Given the description of an element on the screen output the (x, y) to click on. 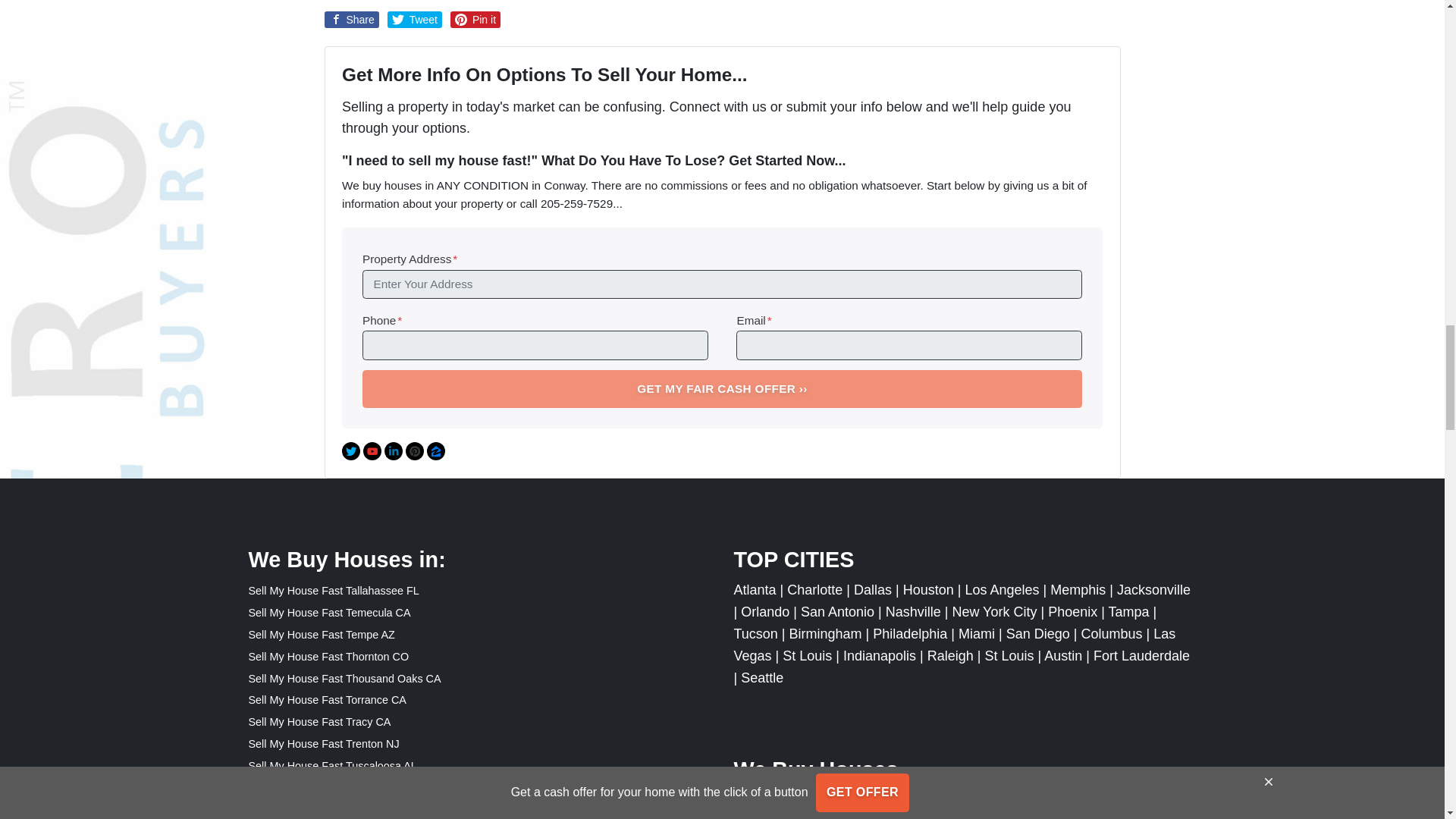
Pinterest (414, 451)
Sell My House Fast Tallahassee FL (333, 590)
Zillow (435, 451)
YouTube (371, 451)
Twitter (350, 451)
Sell My House Fast Temecula CA (329, 612)
Share on Twitter (414, 18)
Share on Facebook (351, 18)
Share (351, 18)
Share on Pinterest (474, 18)
Tweet (414, 18)
LinkedIn (393, 451)
Pin it (474, 18)
